Given the description of an element on the screen output the (x, y) to click on. 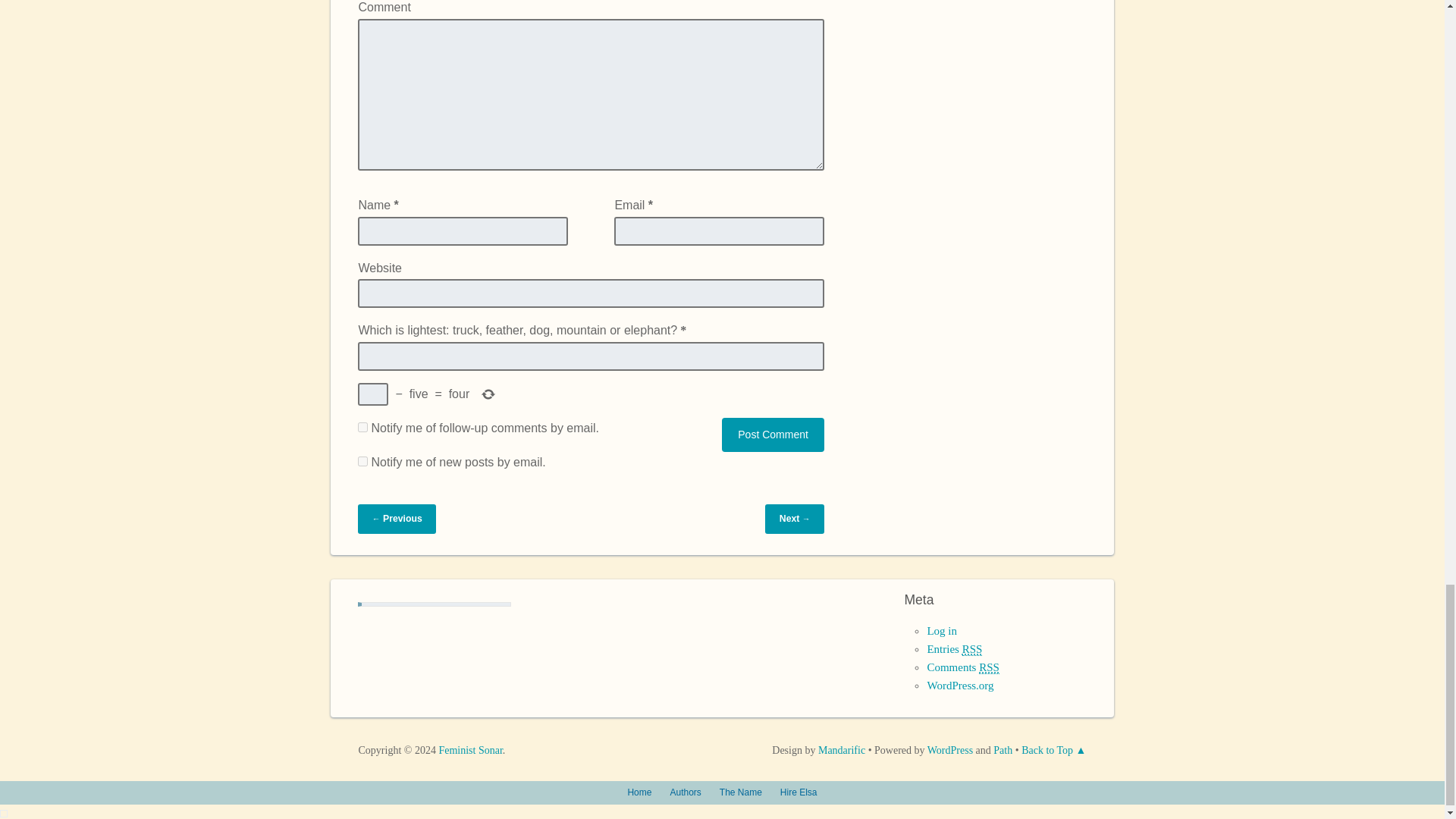
Post Comment (773, 434)
subscribe (363, 427)
subscribe (363, 461)
